Given the description of an element on the screen output the (x, y) to click on. 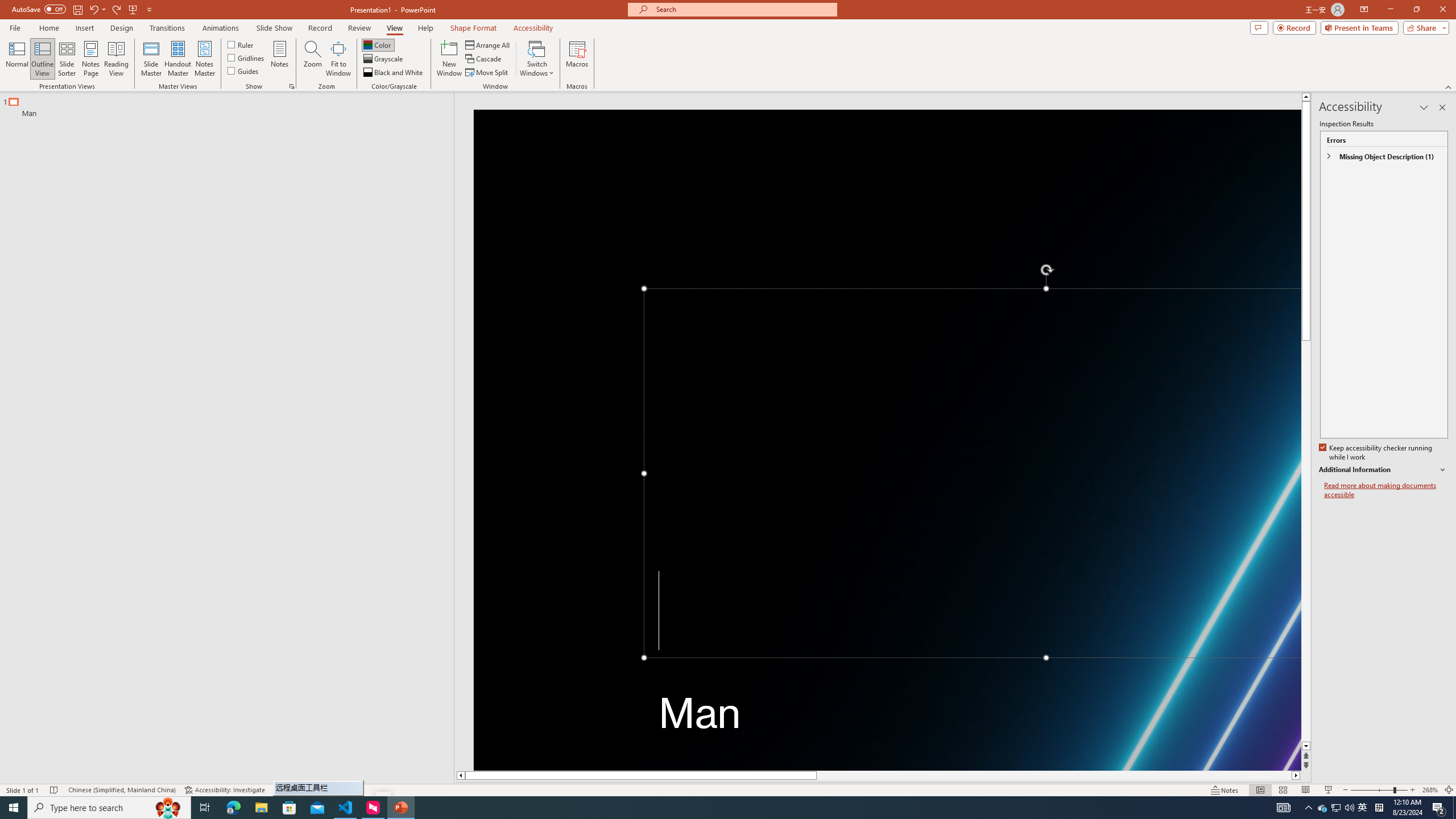
Outline View (42, 58)
Notes (279, 58)
Slide Master (151, 58)
